Given the description of an element on the screen output the (x, y) to click on. 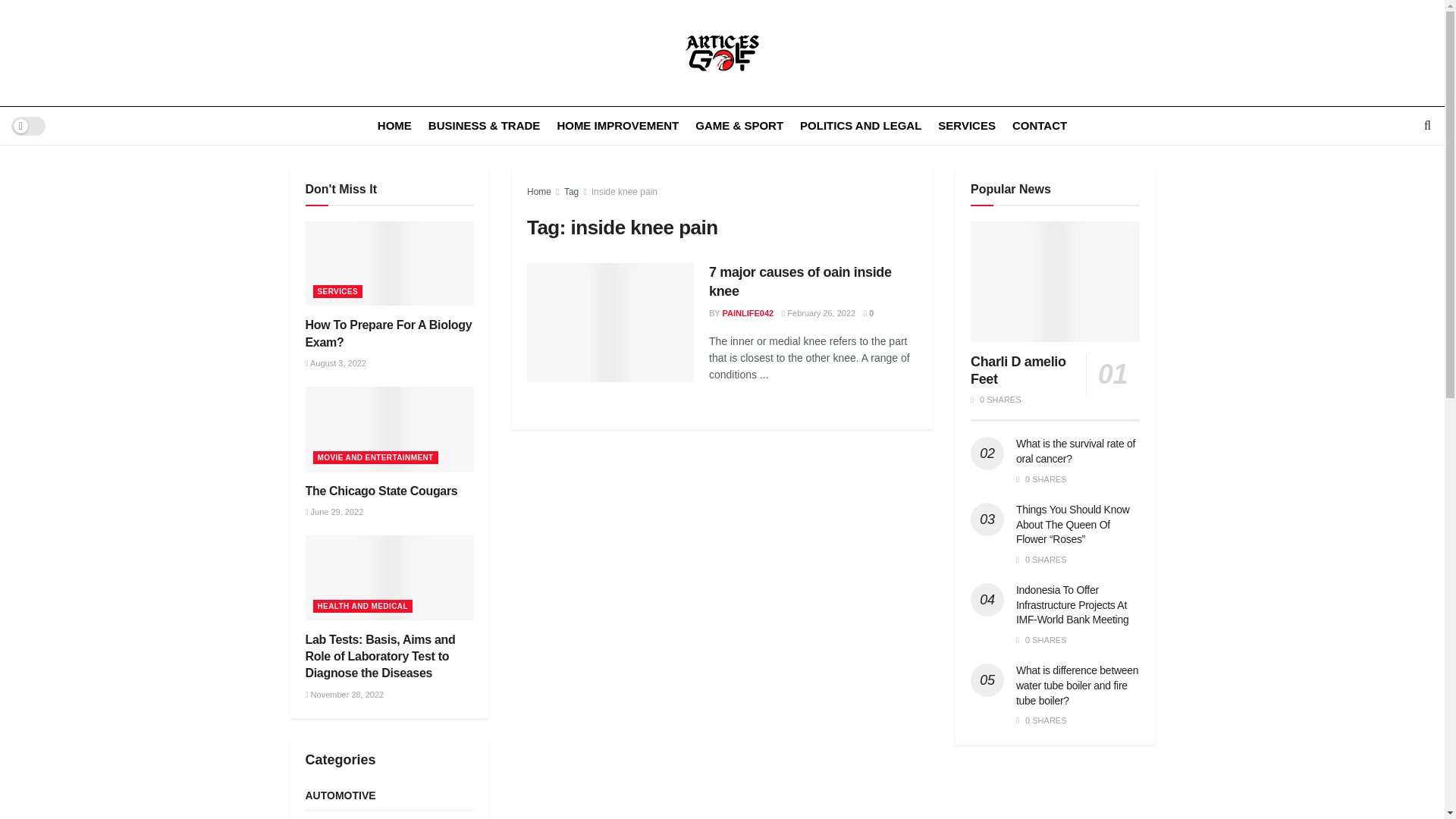
Tag (571, 191)
HOME IMPROVEMENT (617, 125)
0 (868, 312)
February 26, 2022 (818, 312)
SERVICES (337, 291)
PAINLIFE042 (748, 312)
POLITICS AND LEGAL (860, 125)
The Chicago State Cougars (380, 490)
SERVICES (966, 125)
HOME (394, 125)
